Given the description of an element on the screen output the (x, y) to click on. 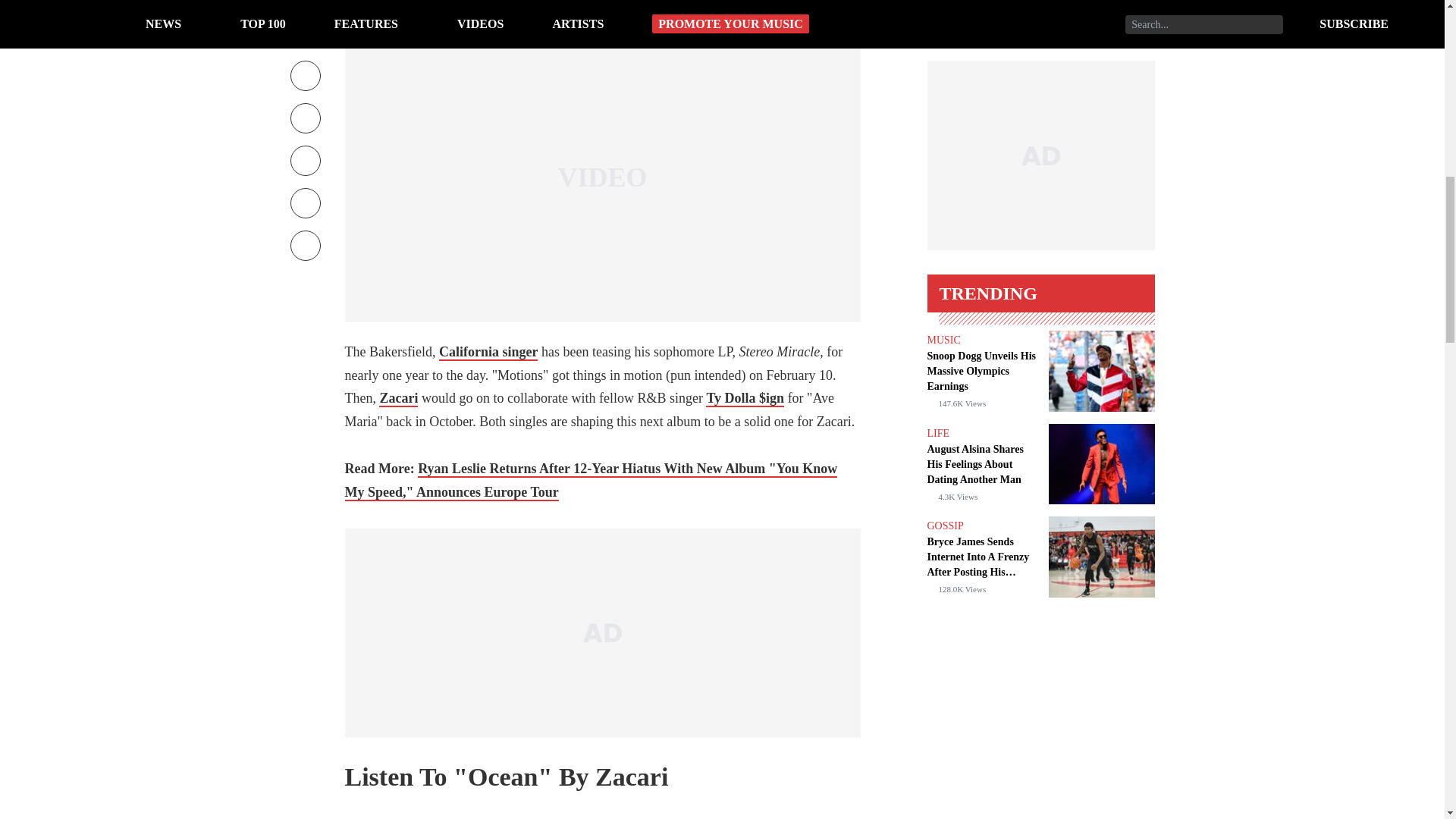
Zacari (397, 398)
Zacari. (484, 2)
California singer (488, 352)
